Given the description of an element on the screen output the (x, y) to click on. 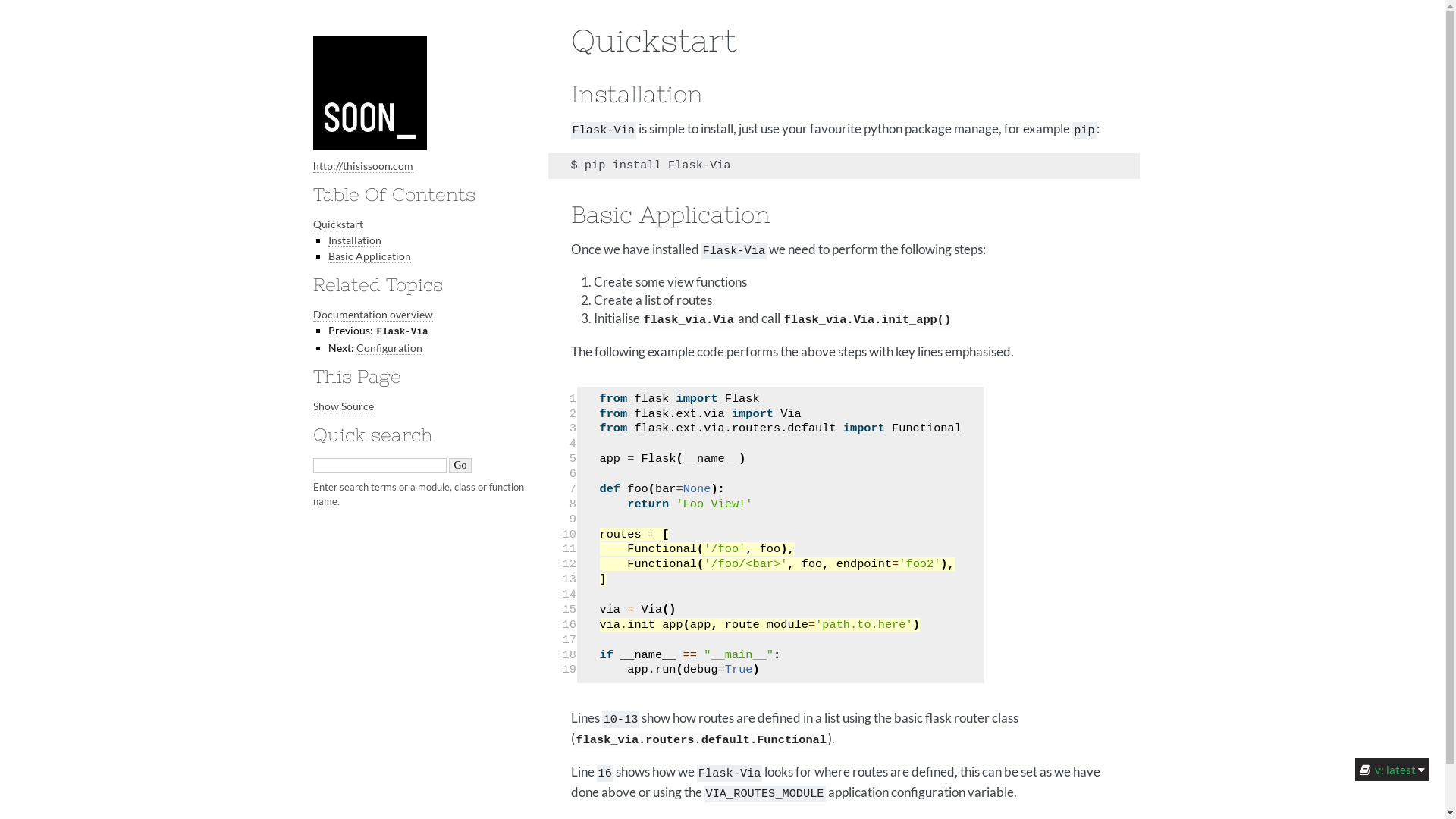
Basic Application Element type: text (368, 256)
Go Element type: text (459, 465)
Installation Element type: text (353, 240)
Table Of Contents Element type: text (393, 194)
flask_via.Via.init_app() Element type: text (867, 318)
http://thisissoon.com Element type: text (362, 165)
flask_via.routers.default.Functional Element type: text (701, 738)
Flask-Via Element type: text (401, 330)
Quickstart Element type: text (337, 224)
flask_via.Via Element type: text (687, 318)
This is SOON_ Element type: hover (369, 93)
Configuration Element type: text (389, 347)
Documentation overview Element type: text (372, 314)
Show Source Element type: text (342, 406)
